Given the description of an element on the screen output the (x, y) to click on. 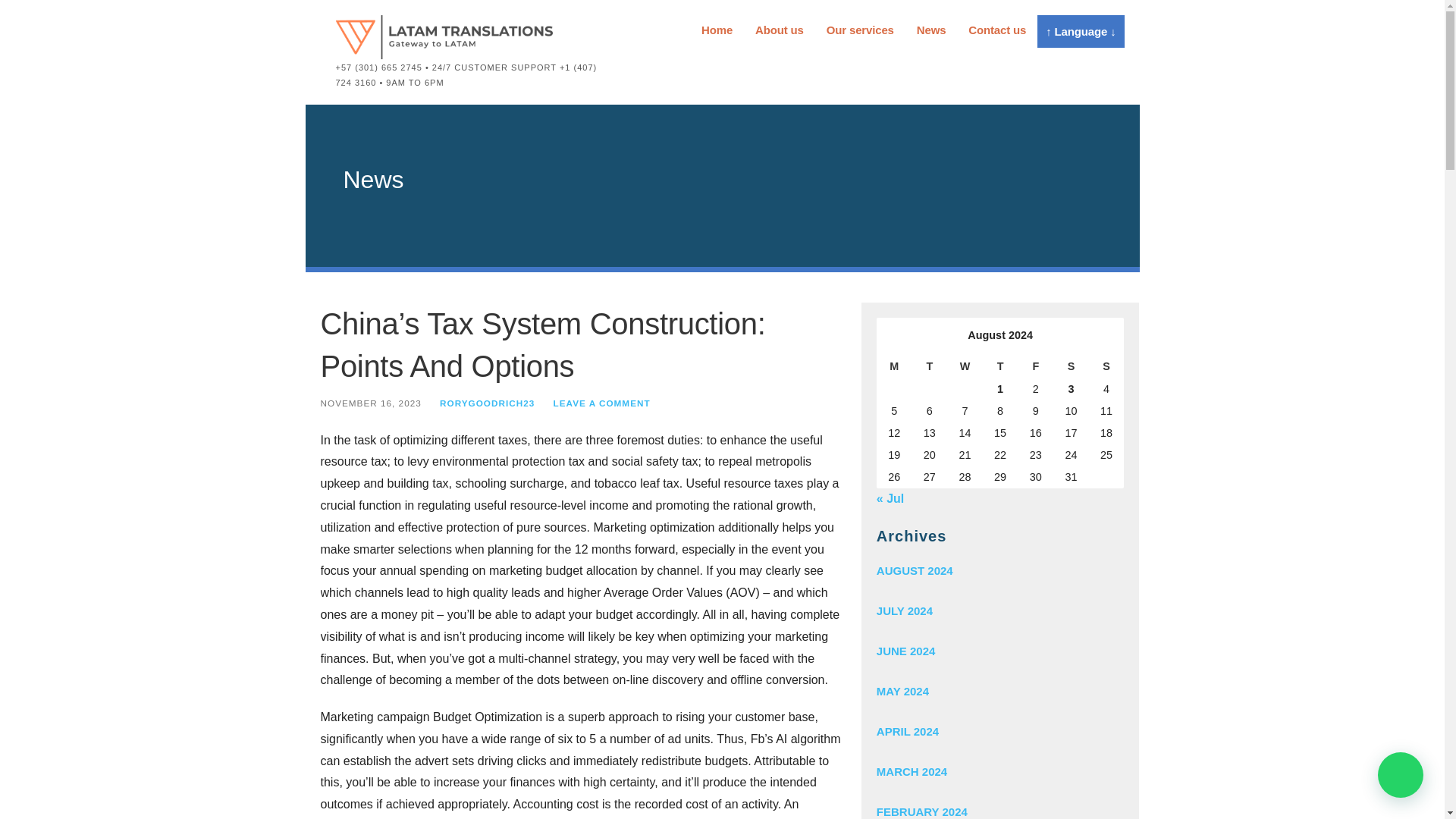
Home (716, 30)
RORYGOODRICH23 (486, 402)
MAY 2024 (1000, 690)
JUNE 2024 (1000, 650)
JULY 2024 (1000, 610)
About us (779, 30)
Our services (860, 30)
Monday (894, 366)
Wednesday (964, 366)
Sunday (1106, 366)
AUGUST 2024 (1000, 570)
MARCH 2024 (1000, 771)
LEAVE A COMMENT (601, 402)
Friday (1034, 366)
Contact us (997, 30)
